Given the description of an element on the screen output the (x, y) to click on. 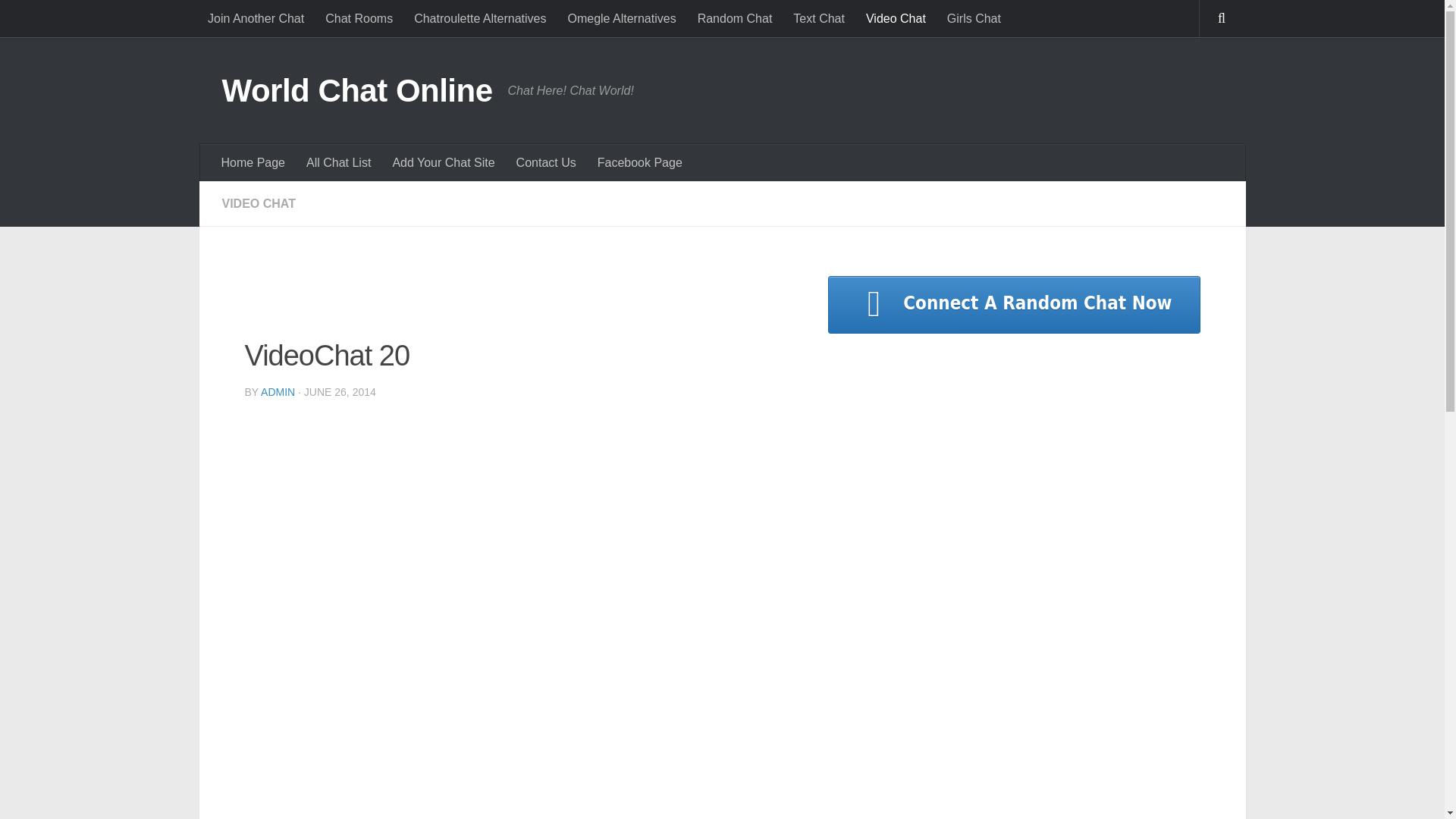
Girls Chat (973, 18)
VIDEO CHAT (258, 203)
Join Another Chat (255, 18)
Connect A Random Chat Now (1013, 304)
Connect A Random Chat Now (1013, 304)
Home Page (254, 162)
Video Chat (896, 18)
Chat Rooms (358, 18)
Add Your Chat Site (443, 162)
ADMIN (277, 391)
